Given the description of an element on the screen output the (x, y) to click on. 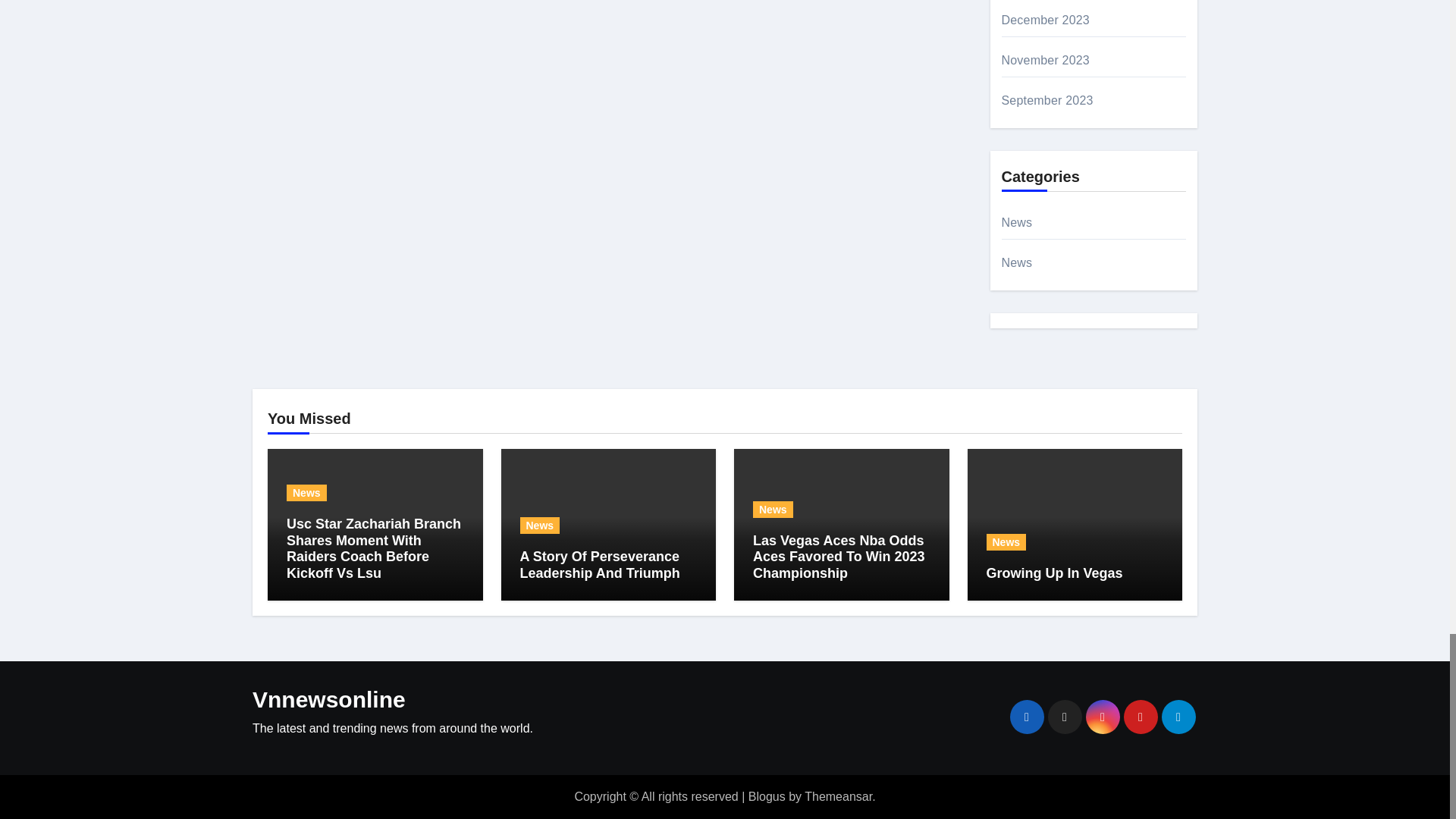
Permalink to: A Story Of Perseverance Leadership And Triumph (599, 564)
Permalink to: Growing Up In Vegas (1053, 572)
